Given the description of an element on the screen output the (x, y) to click on. 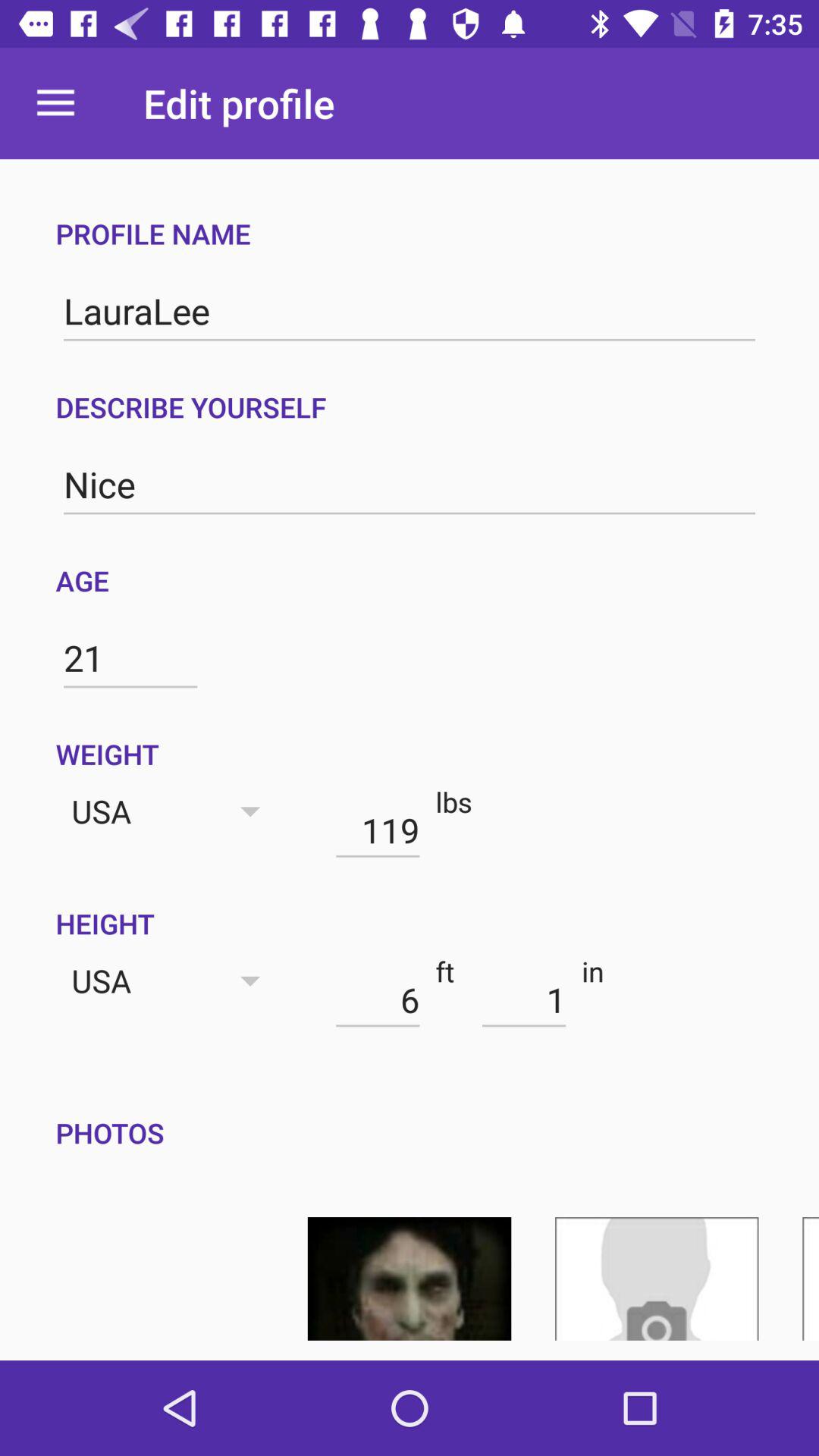
turn off item below age (130, 658)
